Given the description of an element on the screen output the (x, y) to click on. 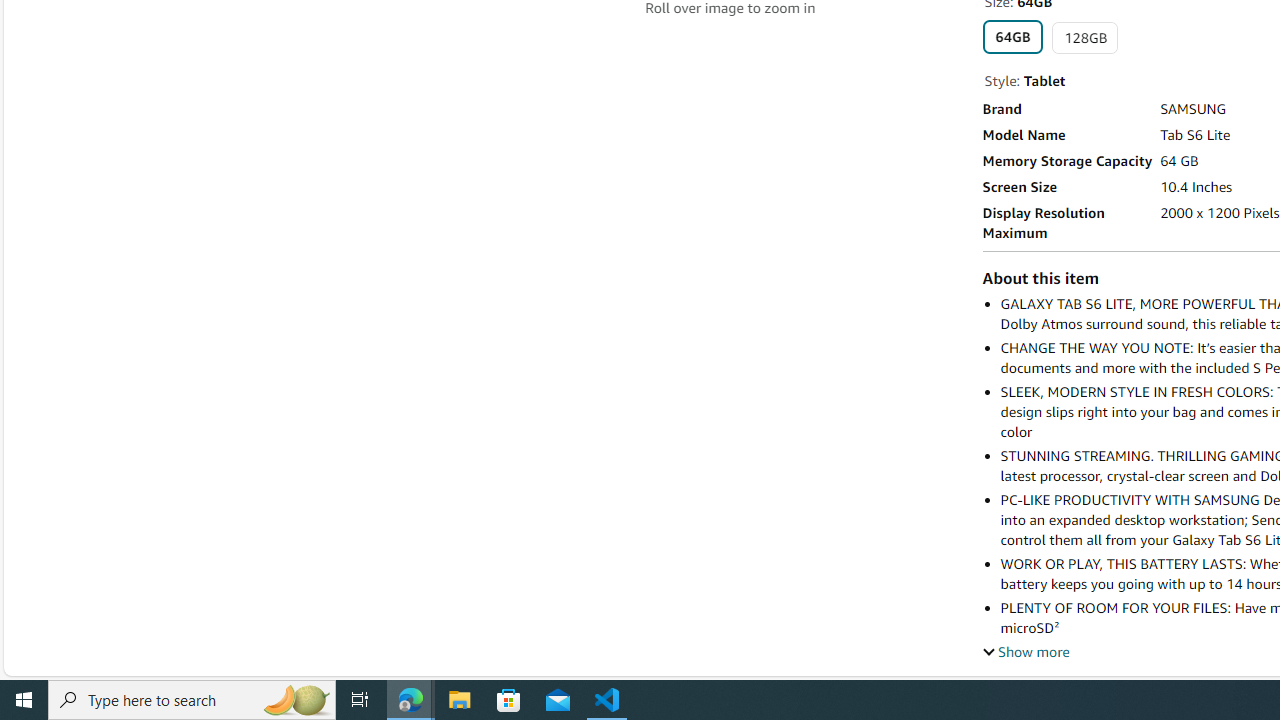
128GB (1085, 38)
64GB (1012, 36)
Show more (1025, 651)
